Given the description of an element on the screen output the (x, y) to click on. 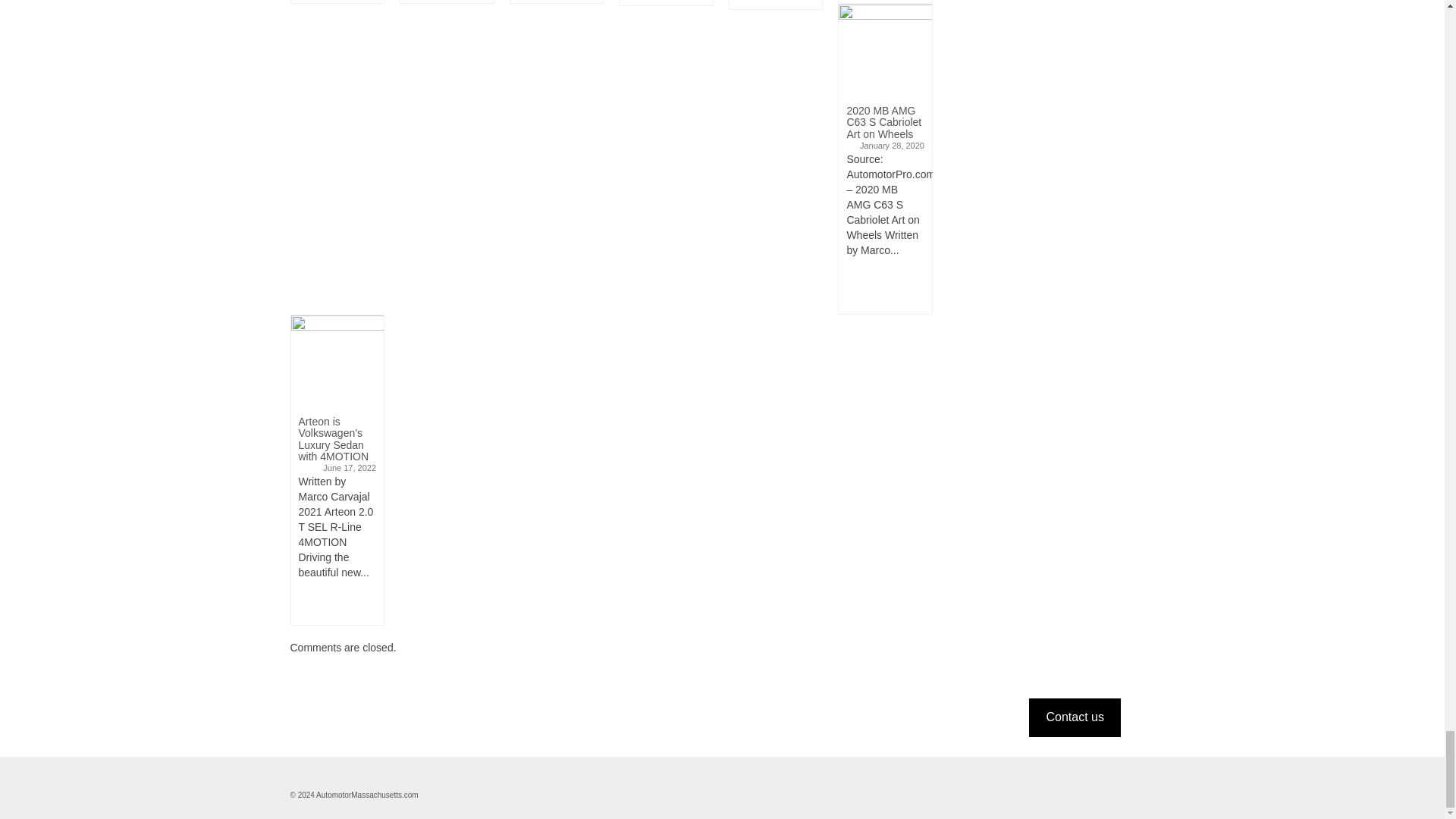
2020 MB AMG C63 S Cabriolet Art on Wheels (884, 50)
